Given the description of an element on the screen output the (x, y) to click on. 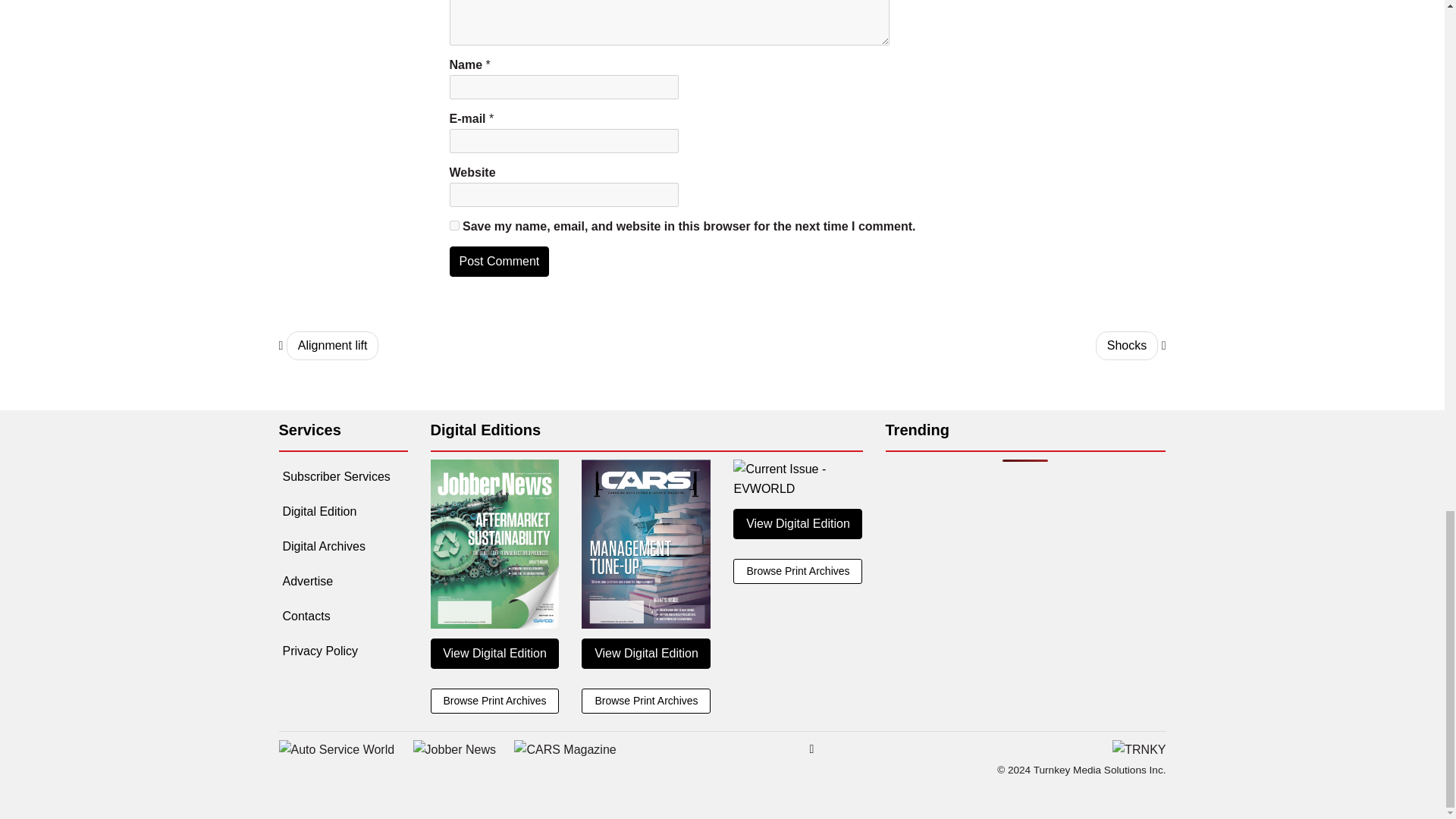
Post Comment (498, 261)
yes (453, 225)
